Given the description of an element on the screen output the (x, y) to click on. 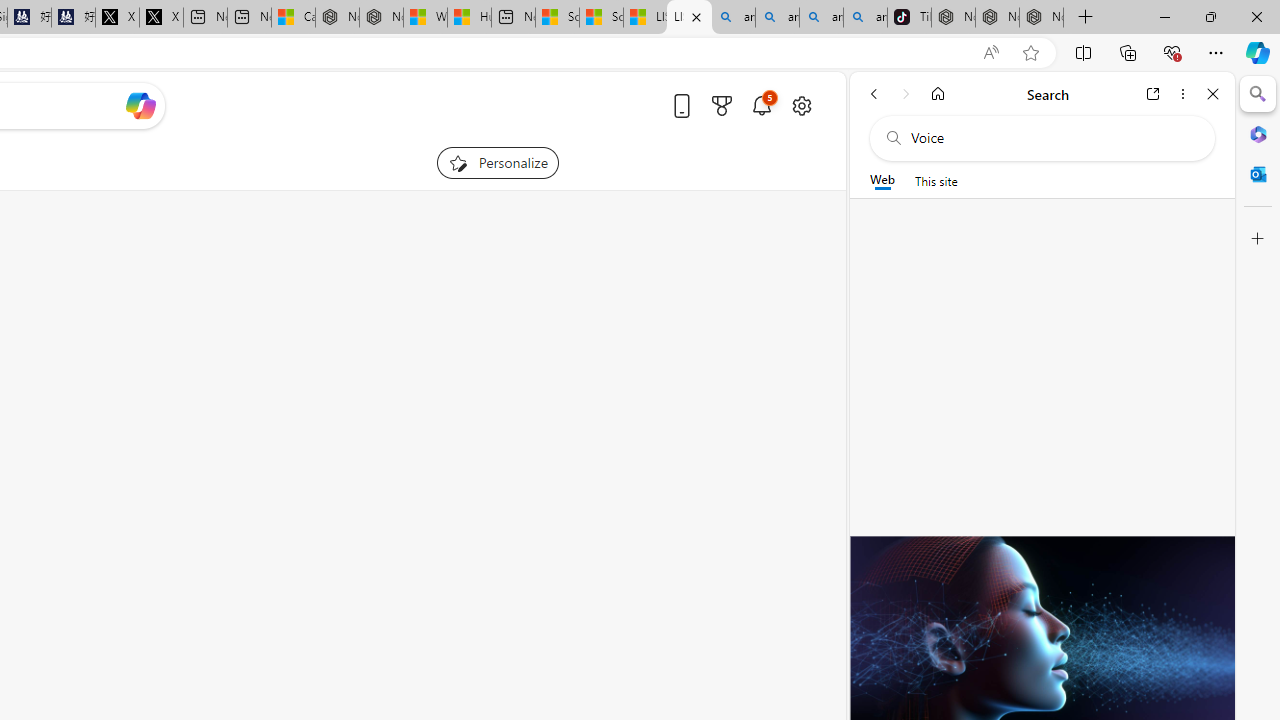
Open link in new tab (1153, 93)
Home (938, 93)
Notifications (762, 105)
Nordace - Summer Adventures 2024 (381, 17)
Search the web (1051, 137)
Web scope (882, 180)
amazon - Search Images (865, 17)
Microsoft 365 (1258, 133)
This site scope (936, 180)
Nordace - Siena Pro 15 Essential Set (1041, 17)
